Given the description of an element on the screen output the (x, y) to click on. 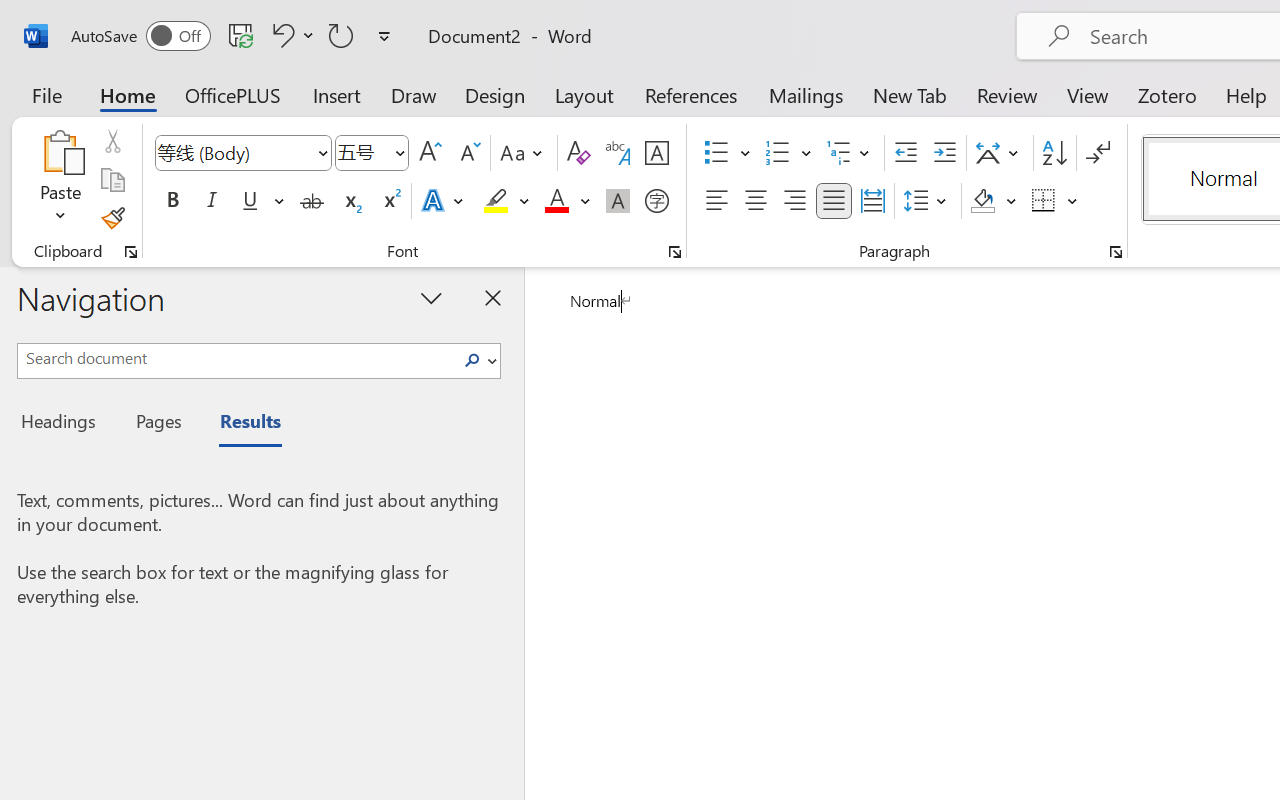
Repeat Style (341, 35)
Phonetic Guide... (618, 153)
Shading RGB(0, 0, 0) (982, 201)
Home (127, 94)
Paragraph... (1115, 252)
Search (478, 360)
Headings (64, 424)
Align Left (716, 201)
Italic (212, 201)
Open (399, 152)
Undo Apply Quick Style (290, 35)
Bold (172, 201)
Insert (337, 94)
Class: NetUIImage (471, 360)
